Given the description of an element on the screen output the (x, y) to click on. 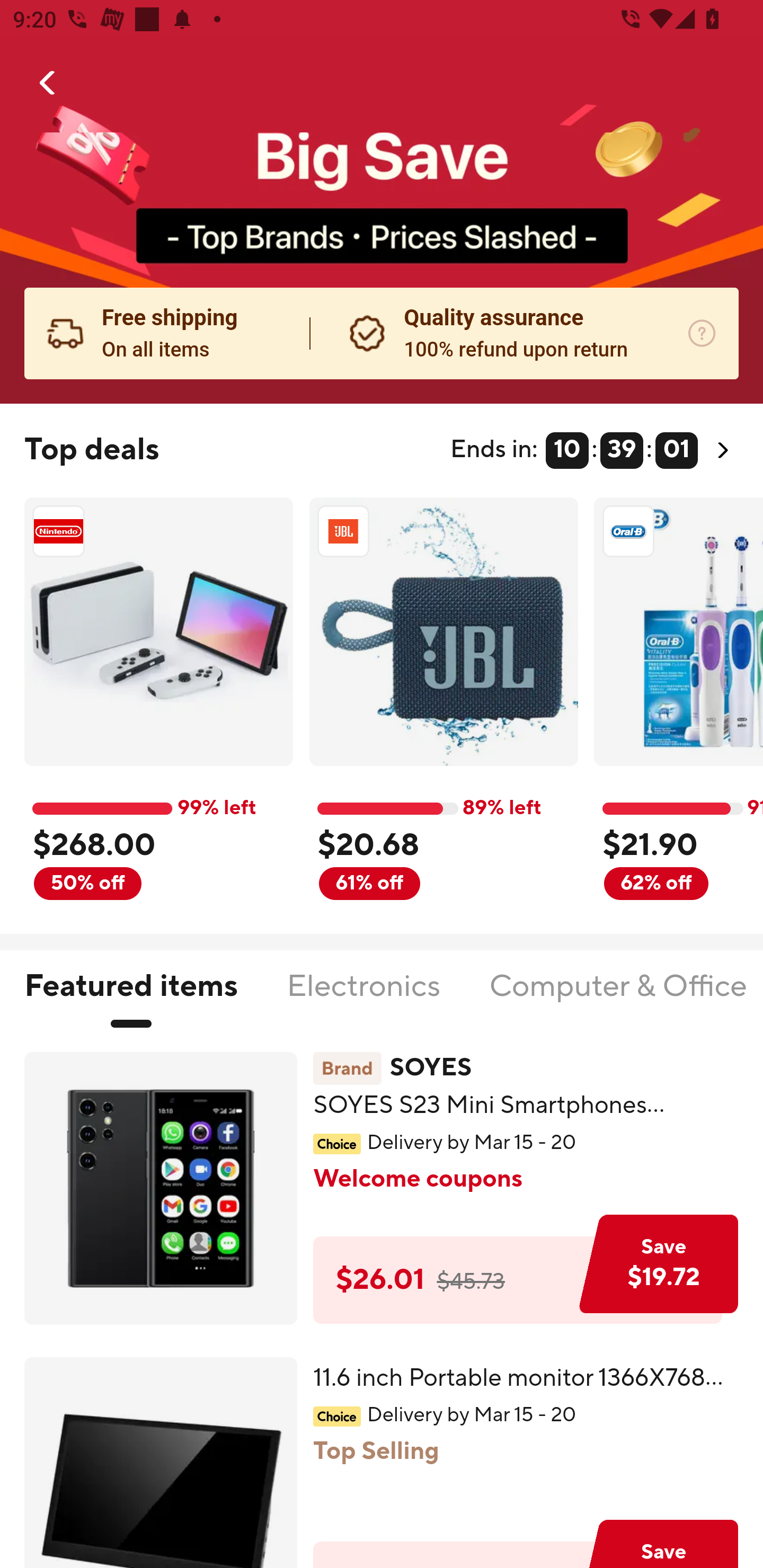
 (48, 82)
Featured items (130, 996)
Electronics (363, 996)
Computer & Office (617, 996)
